Given the description of an element on the screen output the (x, y) to click on. 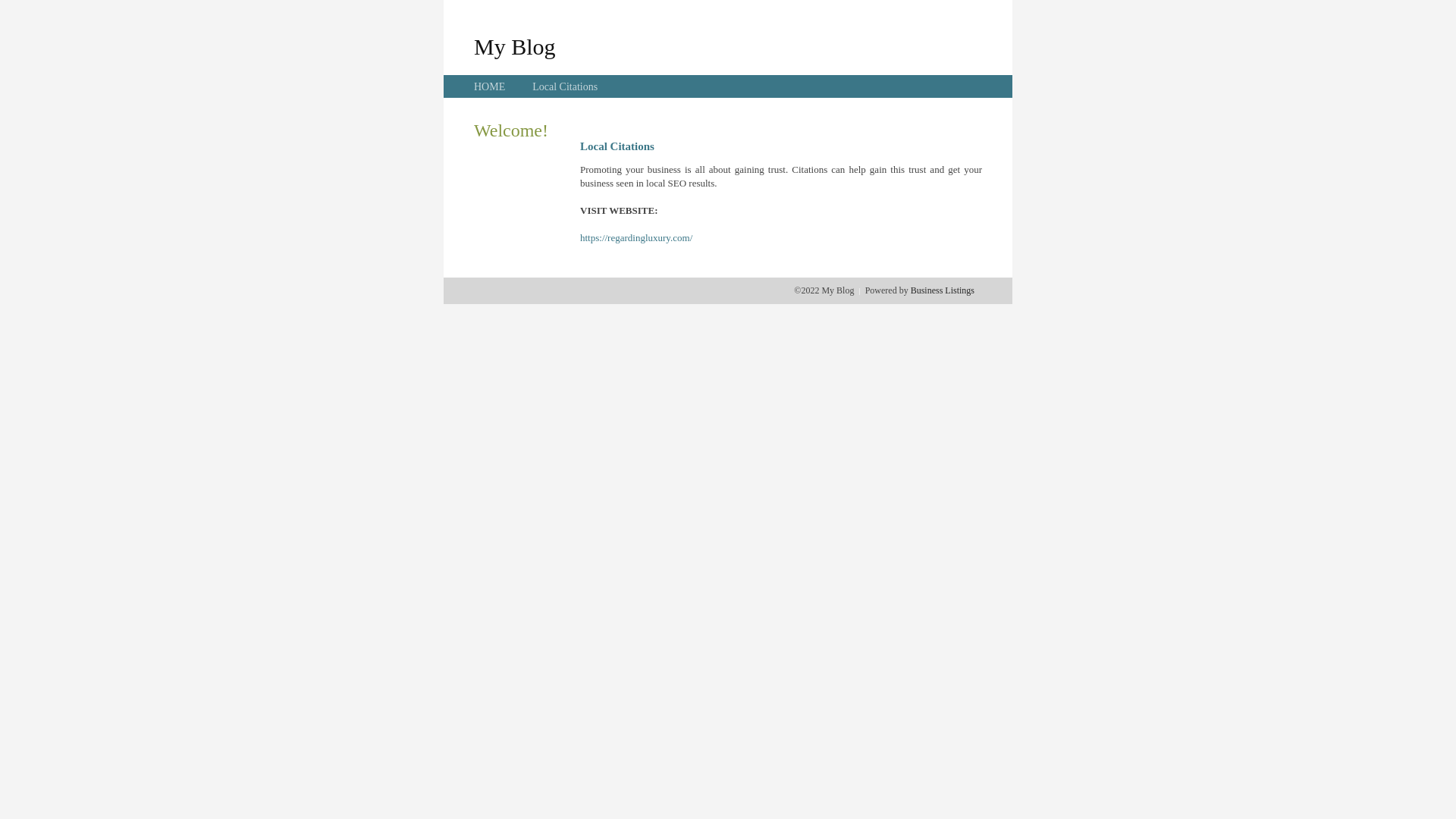
HOME Element type: text (489, 86)
Business Listings Element type: text (942, 290)
https://regardingluxury.com/ Element type: text (636, 237)
Local Citations Element type: text (564, 86)
My Blog Element type: text (514, 46)
